Given the description of an element on the screen output the (x, y) to click on. 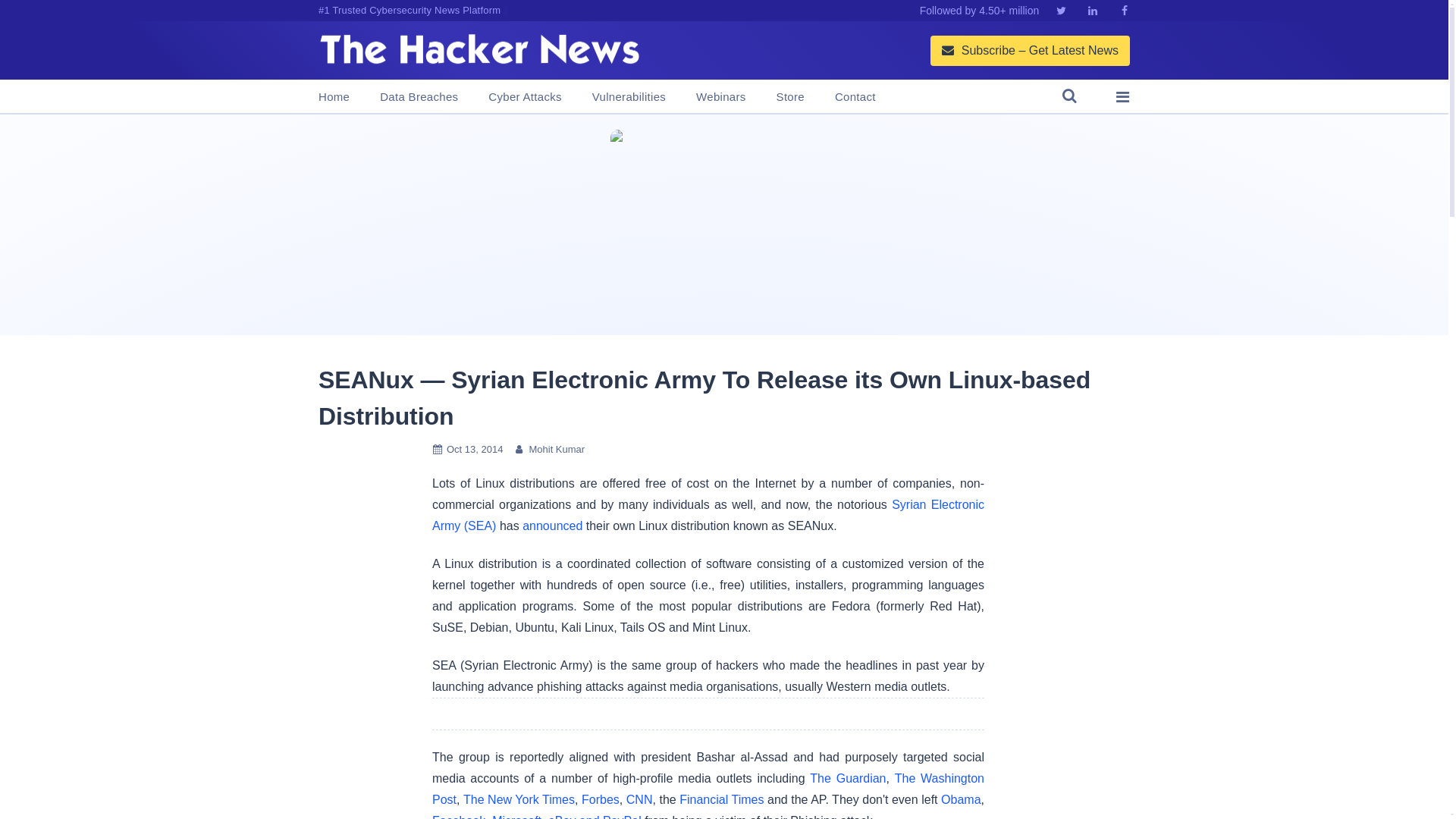
Webinars (720, 96)
Data Breaches (419, 96)
announced (552, 525)
Contact (855, 96)
Home (333, 96)
The Guardian (847, 778)
Cyber Attacks (523, 96)
Vulnerabilities (628, 96)
